Given the description of an element on the screen output the (x, y) to click on. 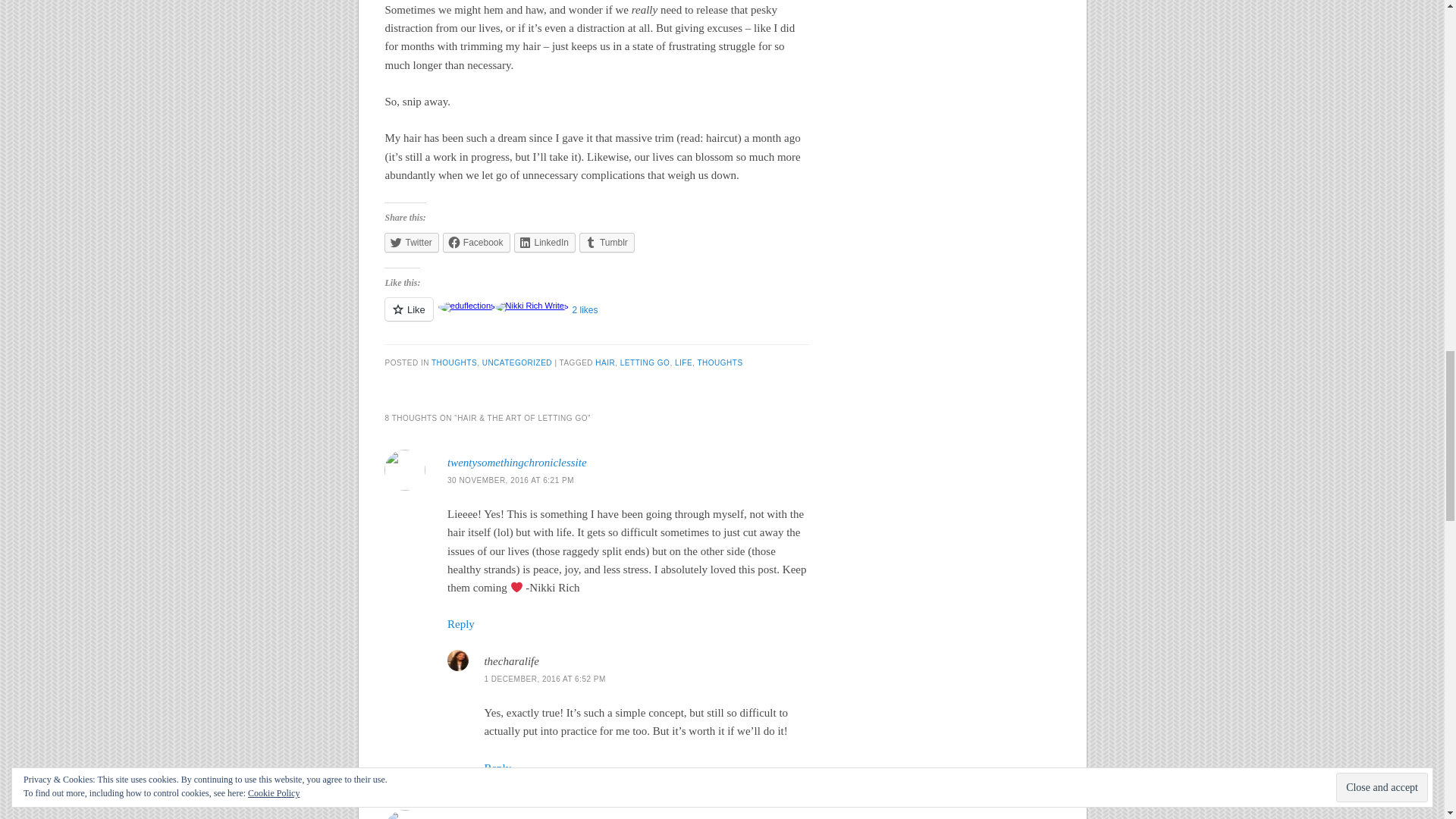
HAIR (604, 362)
Reply (460, 623)
LinkedIn (544, 242)
Click to share on Tumblr (606, 242)
Click to share on LinkedIn (544, 242)
THOUGHTS (453, 362)
Tumblr (606, 242)
Click to share on Facebook (476, 242)
Twitter (411, 242)
Click to share on Twitter (411, 242)
1 DECEMBER, 2016 AT 6:52 PM (544, 678)
Reply (497, 767)
30 NOVEMBER, 2016 AT 6:21 PM (509, 479)
Facebook (476, 242)
LIFE (684, 362)
